Given the description of an element on the screen output the (x, y) to click on. 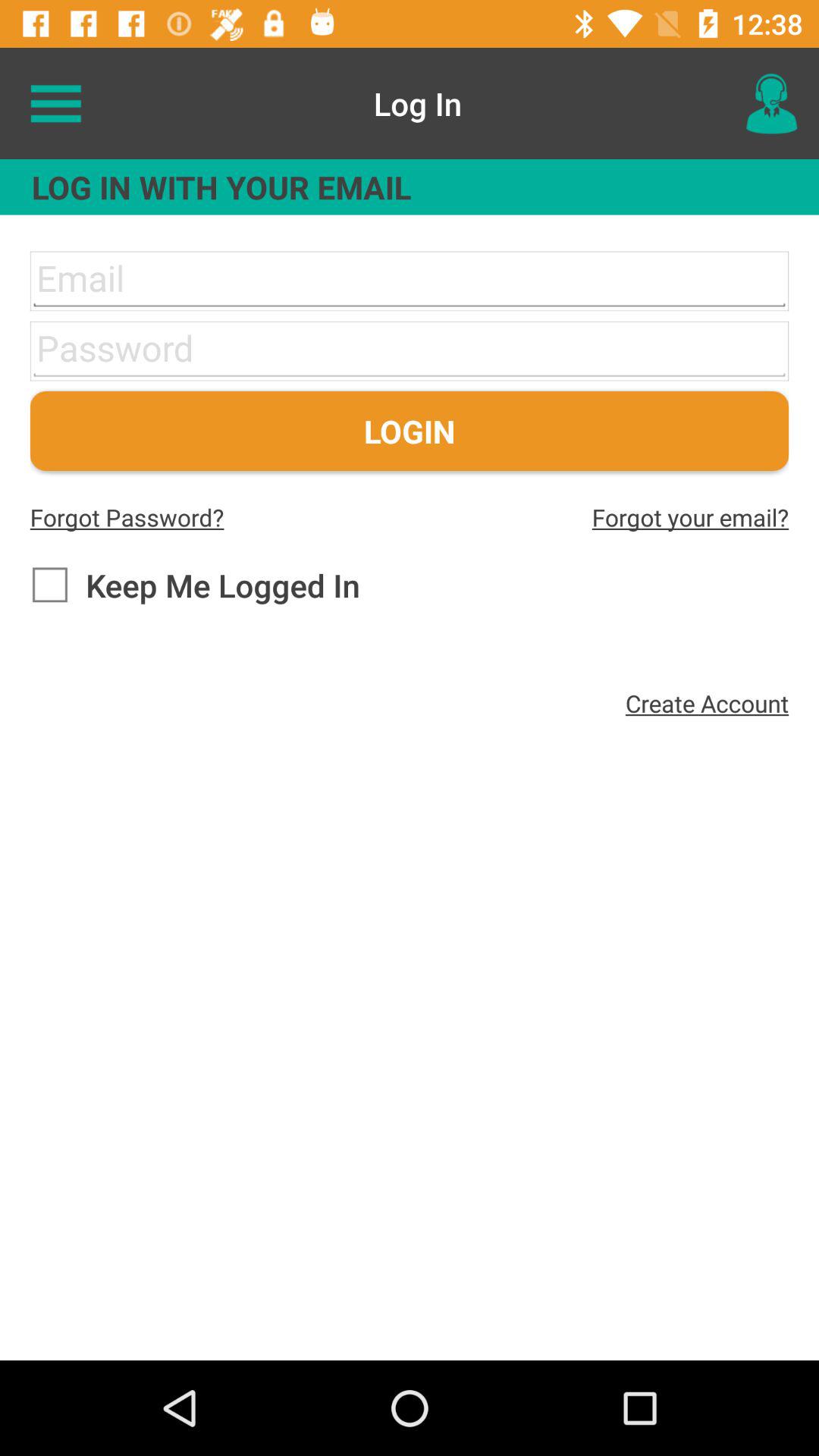
launch icon to the left of log in item (55, 103)
